Given the description of an element on the screen output the (x, y) to click on. 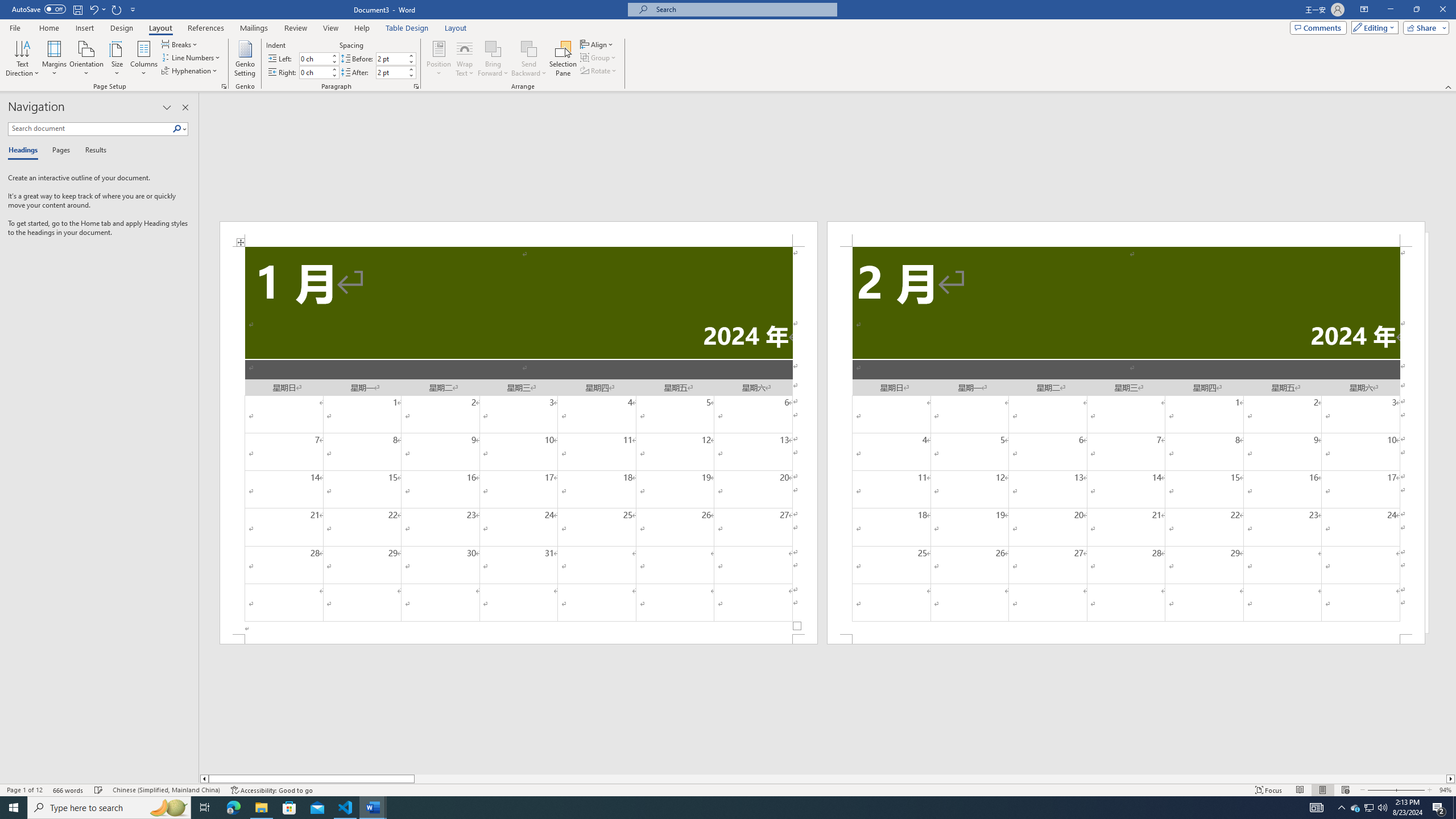
Page Setup... (223, 85)
Hyphenation (189, 69)
Indent Left (314, 58)
Wrap Text (464, 58)
Position (438, 58)
Page right (929, 778)
Genko Setting... (244, 58)
Indent Right (314, 72)
Column left (203, 778)
Page 1 content (518, 439)
